Given the description of an element on the screen output the (x, y) to click on. 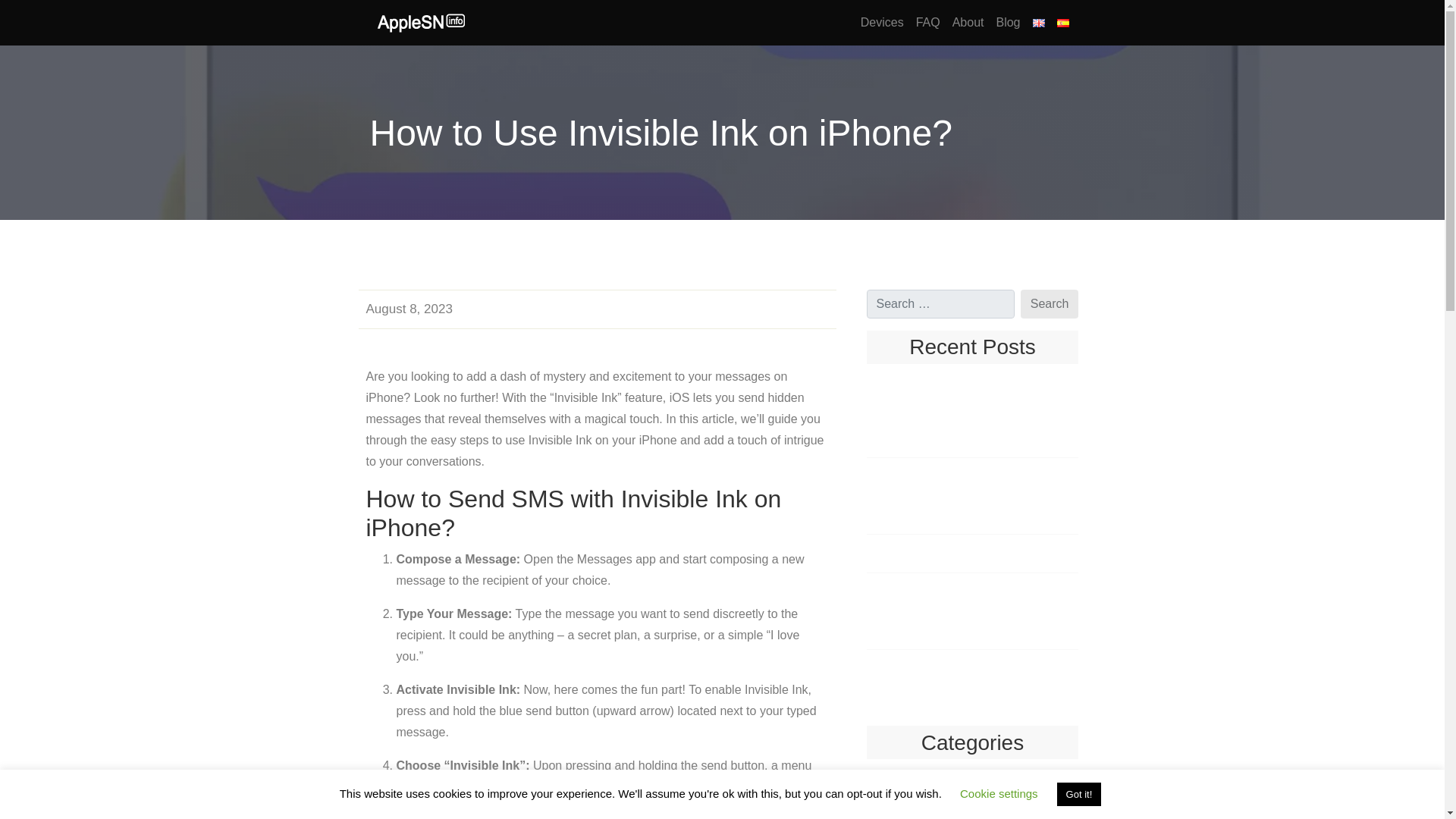
How to Scan Something With Your iPhone (972, 419)
AirPods Pro (972, 816)
How to Send a Fax with Your iPhone? (972, 553)
Search (1049, 303)
Search (1049, 303)
Devices (882, 22)
About (968, 22)
FAQ (928, 22)
Devices (882, 22)
Blog (1008, 22)
FAQ (928, 22)
About (968, 22)
Search (1049, 303)
Blog (1008, 22)
